Given the description of an element on the screen output the (x, y) to click on. 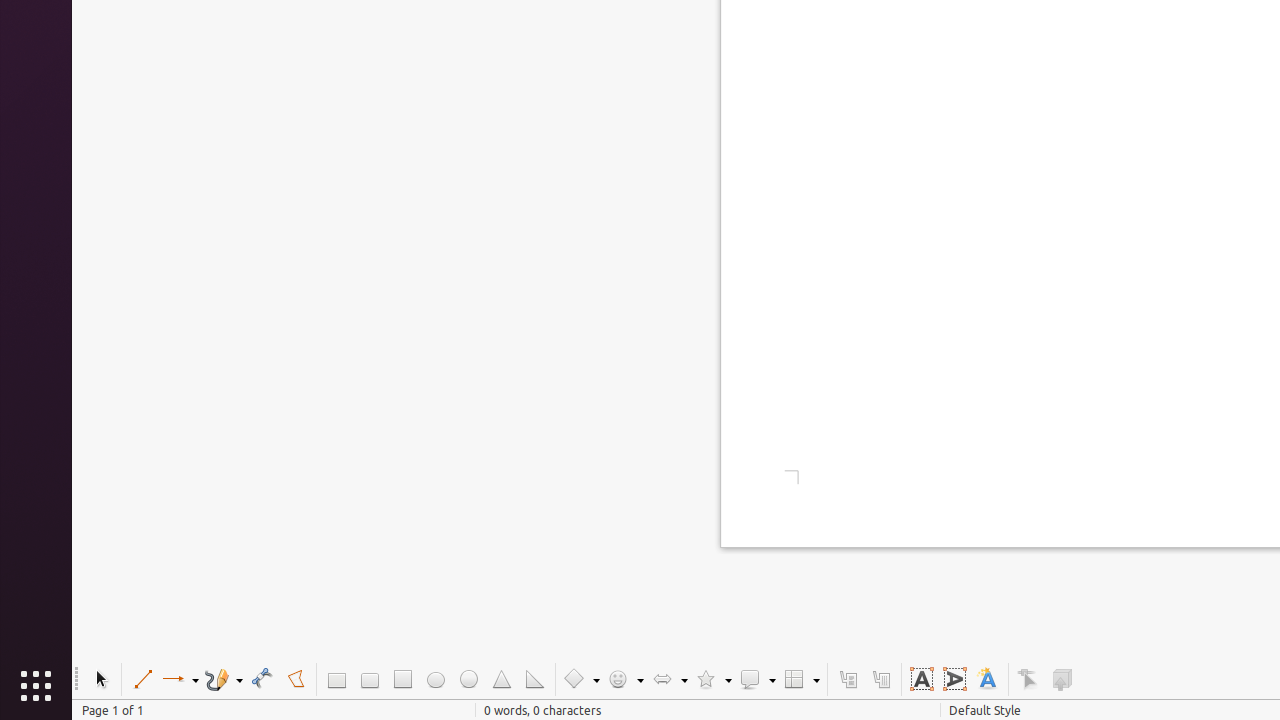
Circle Element type: push-button (468, 679)
Right Triangle Element type: push-button (534, 679)
Fontwork Style Element type: toggle-button (987, 679)
Show Applications Element type: toggle-button (36, 686)
Isosceles Triangle Element type: push-button (501, 679)
